Given the description of an element on the screen output the (x, y) to click on. 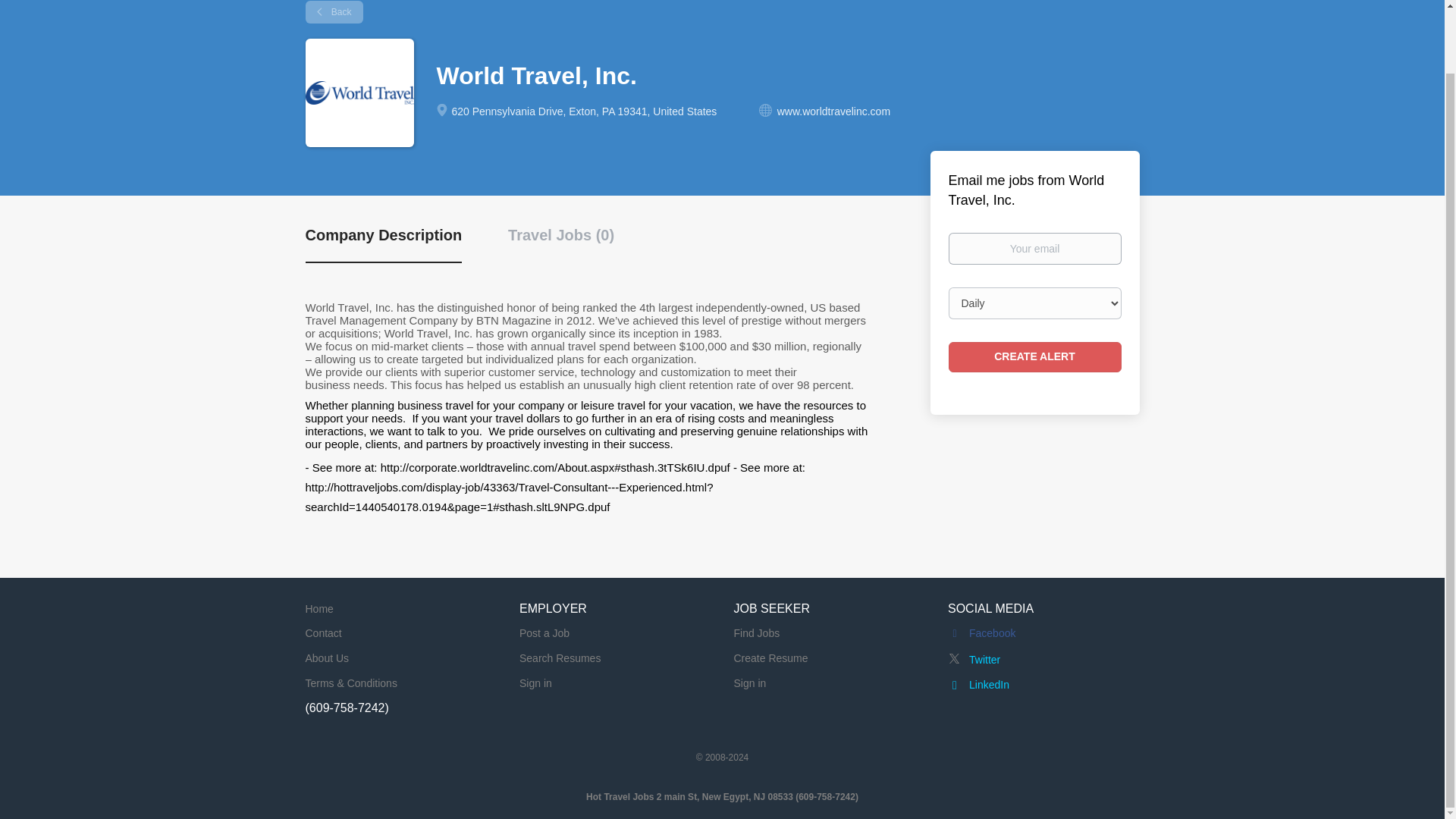
Company Description (382, 243)
Contact (322, 633)
www.worldtravelinc.com (833, 111)
About Us (326, 657)
Back (333, 11)
Create alert (1034, 357)
Create alert (1034, 357)
Home (318, 608)
